Given the description of an element on the screen output the (x, y) to click on. 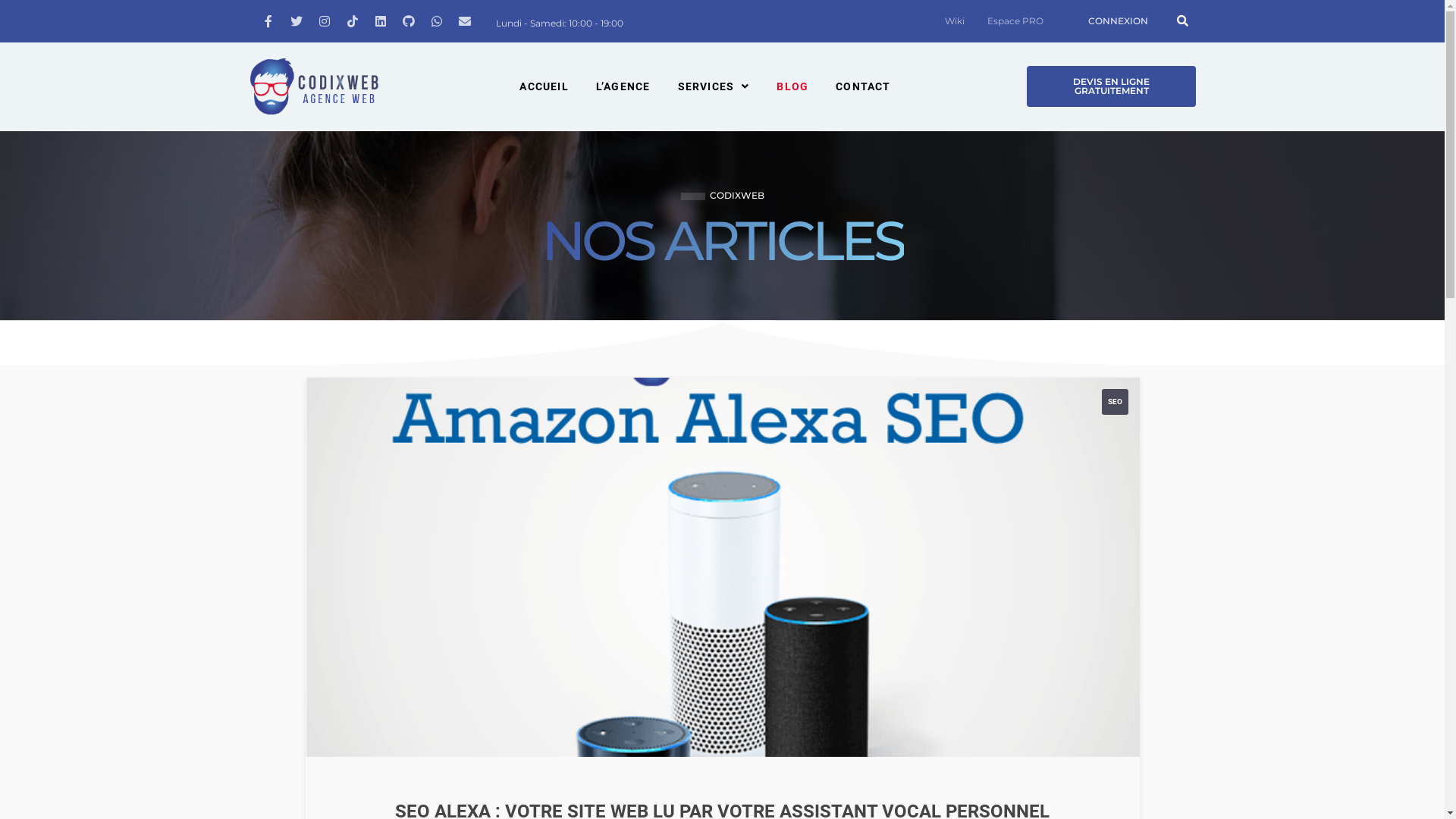
ACCUEIL Element type: text (543, 86)
Tiktok Element type: text (351, 21)
Linkedin Element type: text (380, 21)
Facebook-f Element type: text (268, 21)
Lundi - Samedi: 10:00 - 19:00 Element type: text (559, 22)
Twitter Element type: text (295, 21)
Espace PRO Element type: text (1014, 21)
Github Element type: text (407, 21)
DEVIS EN LIGNE GRATUITEMENT Element type: text (1111, 85)
BLOG Element type: text (792, 86)
CONNEXION Element type: text (1118, 20)
Instagram Element type: text (324, 21)
CONTACT Element type: text (862, 86)
Wiki Element type: text (954, 21)
SERVICES Element type: text (713, 86)
SEO Element type: text (1114, 401)
Envelope Element type: text (463, 21)
Whatsapp Element type: text (436, 21)
